Given the description of an element on the screen output the (x, y) to click on. 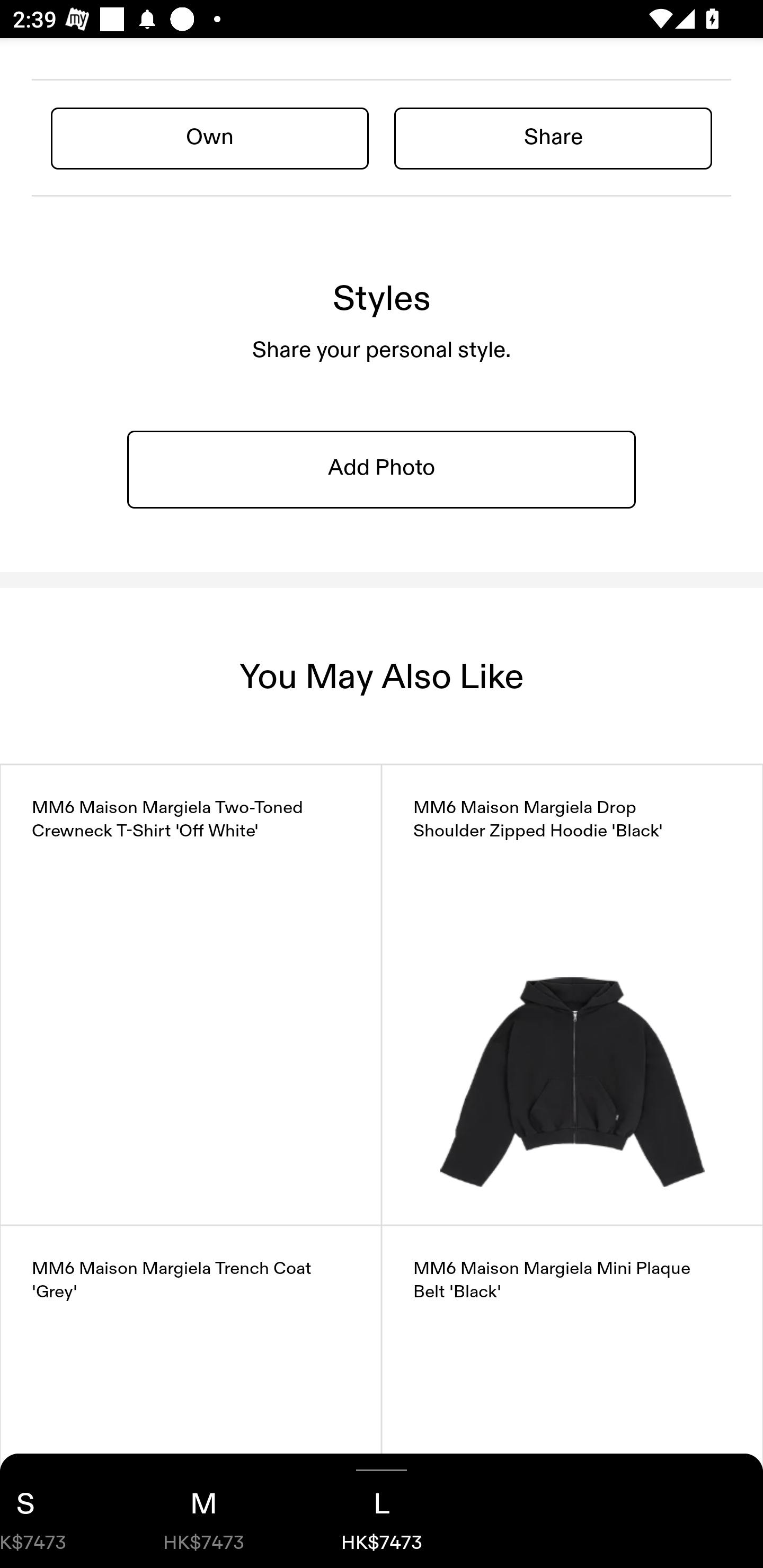
Own (209, 137)
Share (552, 137)
Add Photo (381, 468)
MM6 Maison Margiela Trench Coat 'Grey' (190, 1396)
MM6 Maison Margiela Mini Plaque Belt 'Black' (572, 1396)
S HK$7473 (57, 1510)
M HK$7473 (203, 1510)
L HK$7473 (381, 1510)
